Given the description of an element on the screen output the (x, y) to click on. 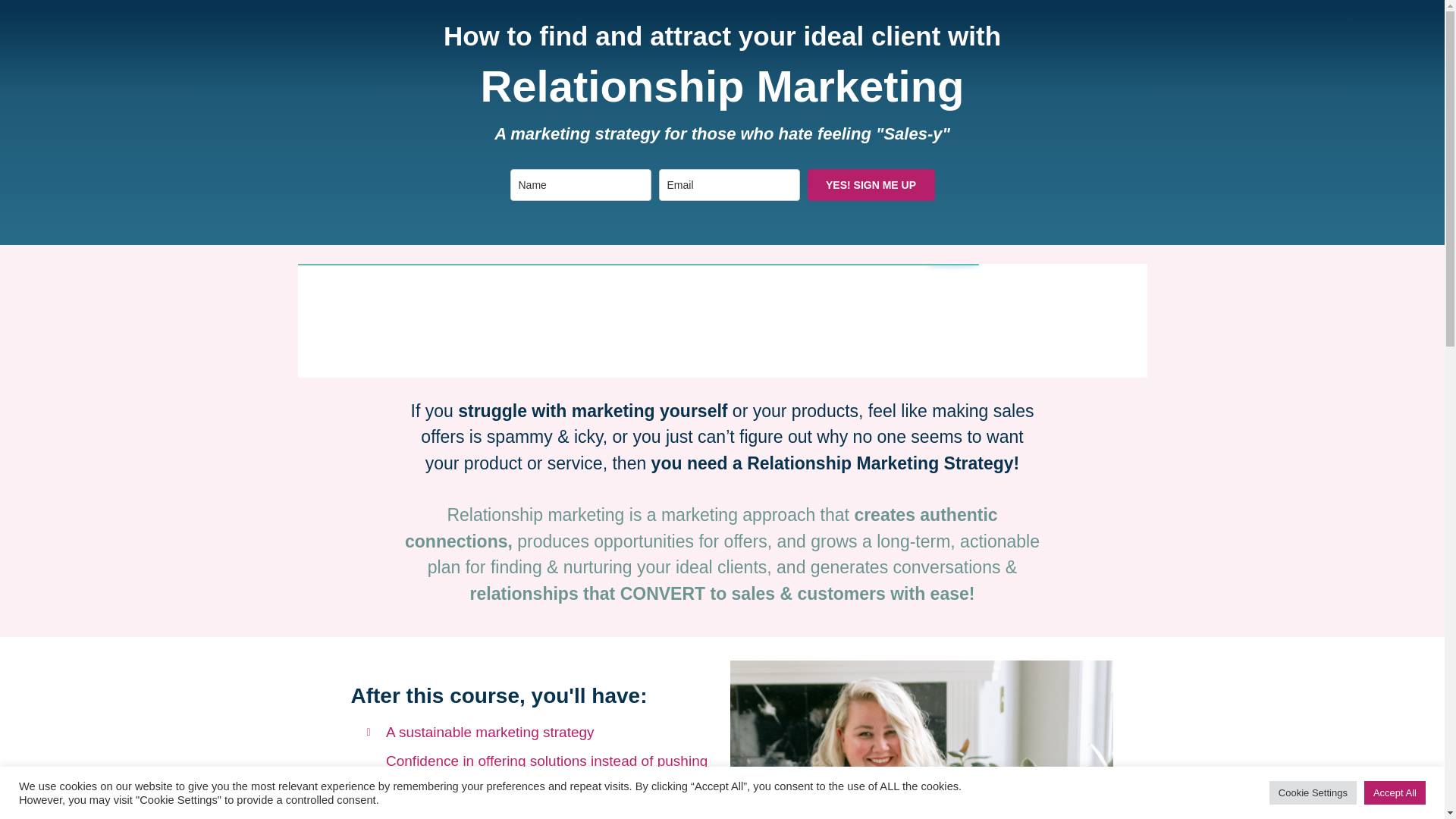
YES! SIGN ME UP (870, 184)
Cookie Settings (1312, 792)
Accept All (1394, 792)
